Given the description of an element on the screen output the (x, y) to click on. 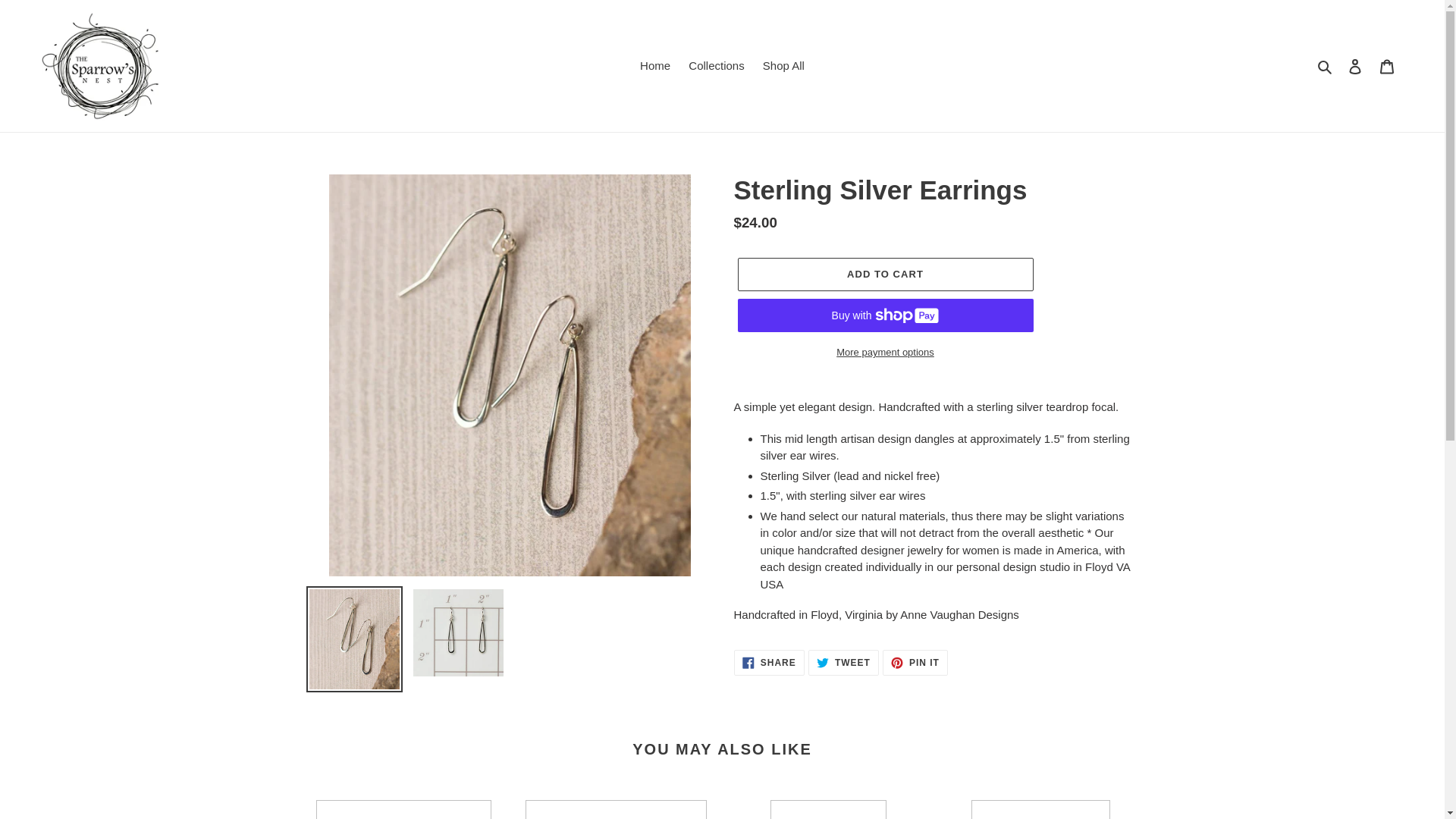
Shop All (783, 65)
Cart (1387, 65)
Amazonite, Czech Glass Earrings (616, 809)
Search (1326, 66)
Adjustable Crystal, Smoky Quartz, Chalcedony Tassel Necklace (828, 809)
Home (654, 65)
Garnet, Czech Glass Necklace (1040, 809)
Jade, Czech Glass, Lapis Earrings (403, 809)
Collections (769, 662)
Log in (716, 65)
ADD TO CART (1355, 65)
More payment options (914, 662)
